Given the description of an element on the screen output the (x, y) to click on. 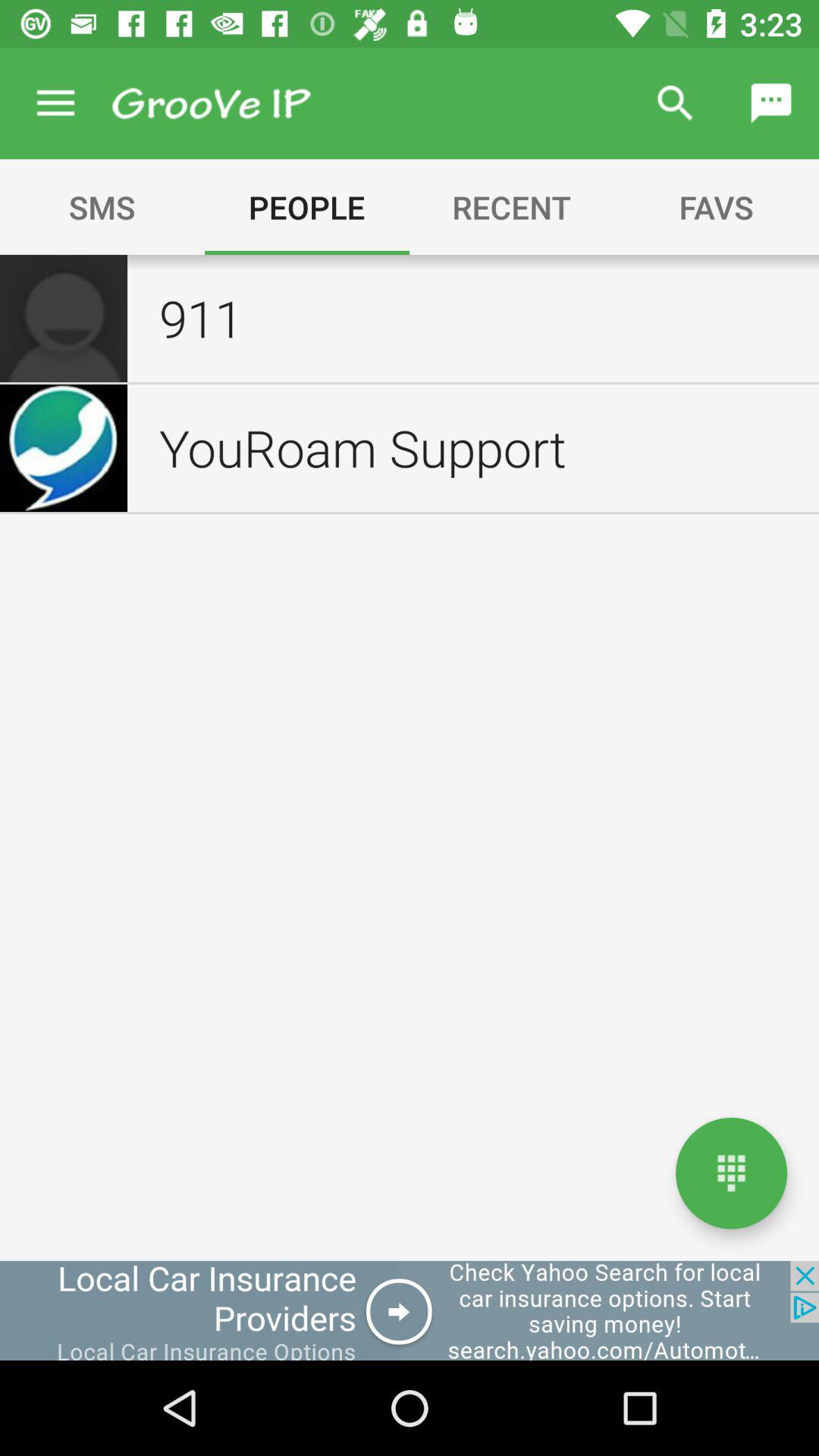
enter the number box (731, 1173)
